Given the description of an element on the screen output the (x, y) to click on. 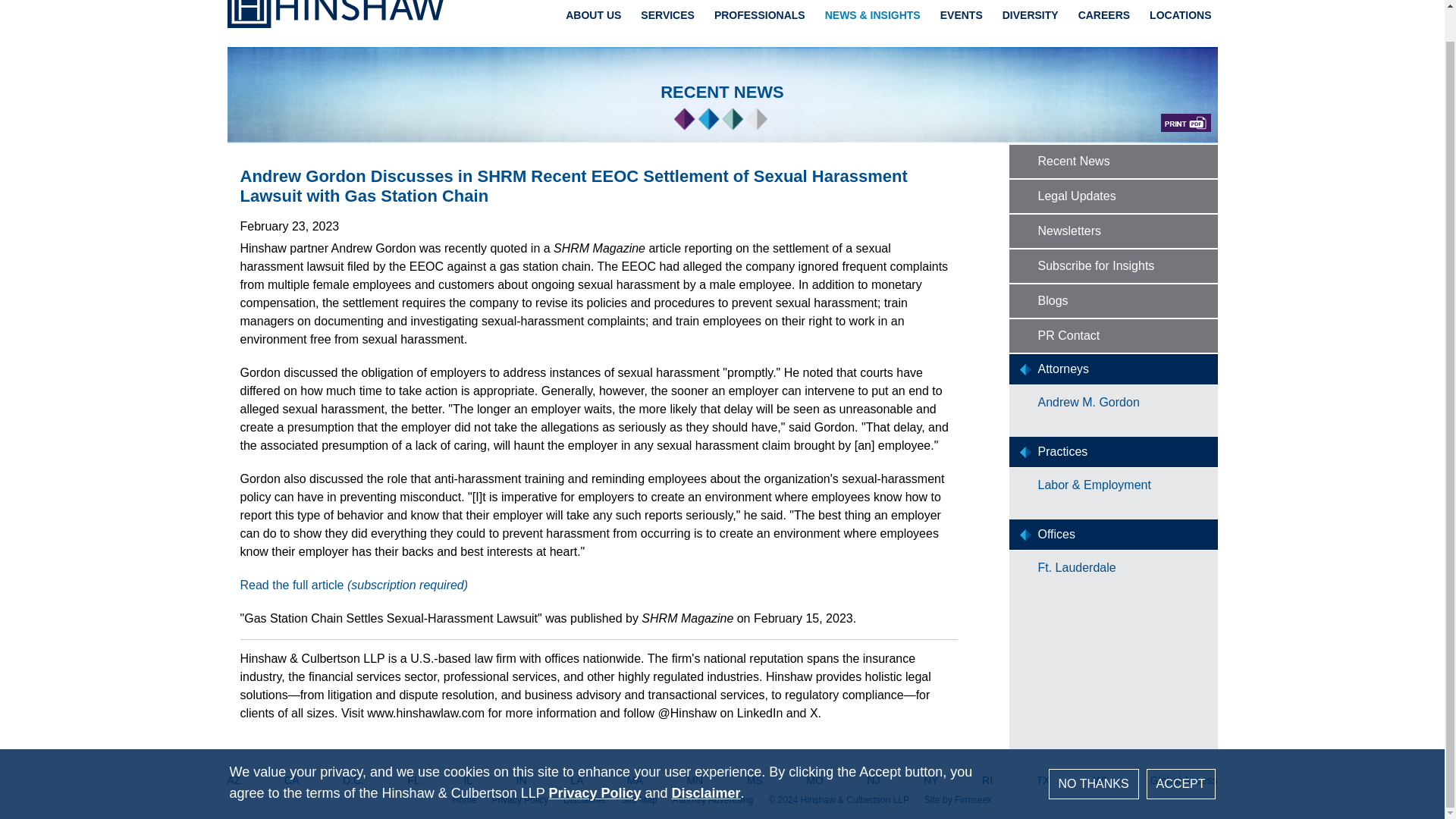
PROFESSIONALS (759, 15)
Link to law.com (353, 584)
SERVICES (667, 15)
ABOUT US (593, 15)
